Given the description of an element on the screen output the (x, y) to click on. 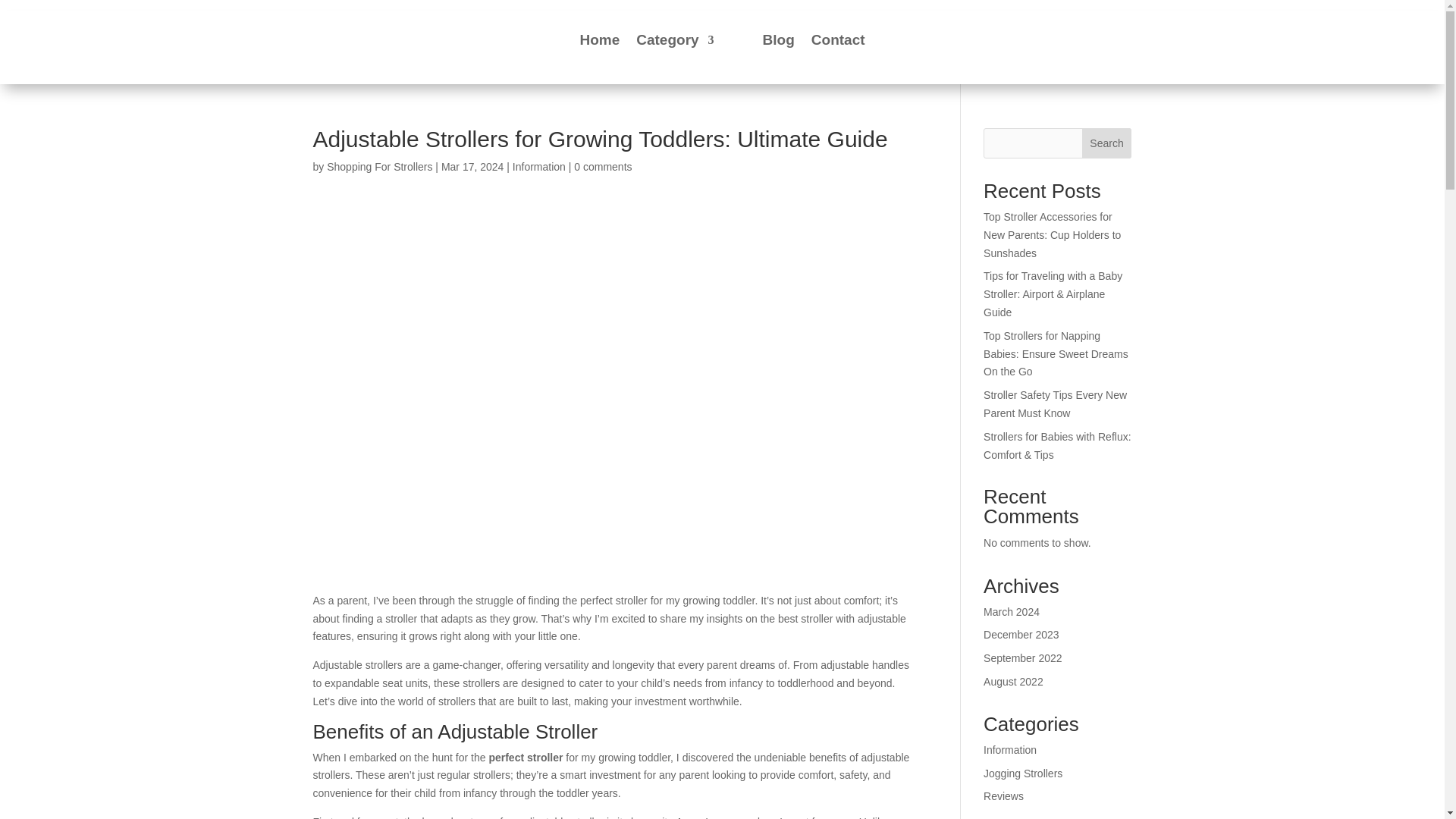
Contact (837, 39)
Search (1106, 142)
Category (674, 39)
Shopping For Strollers (379, 166)
Posts by Shopping For Strollers (379, 166)
Information (539, 166)
0 comments (602, 166)
Stroller Safety Tips Every New Parent Must Know (1055, 404)
